Given the description of an element on the screen output the (x, y) to click on. 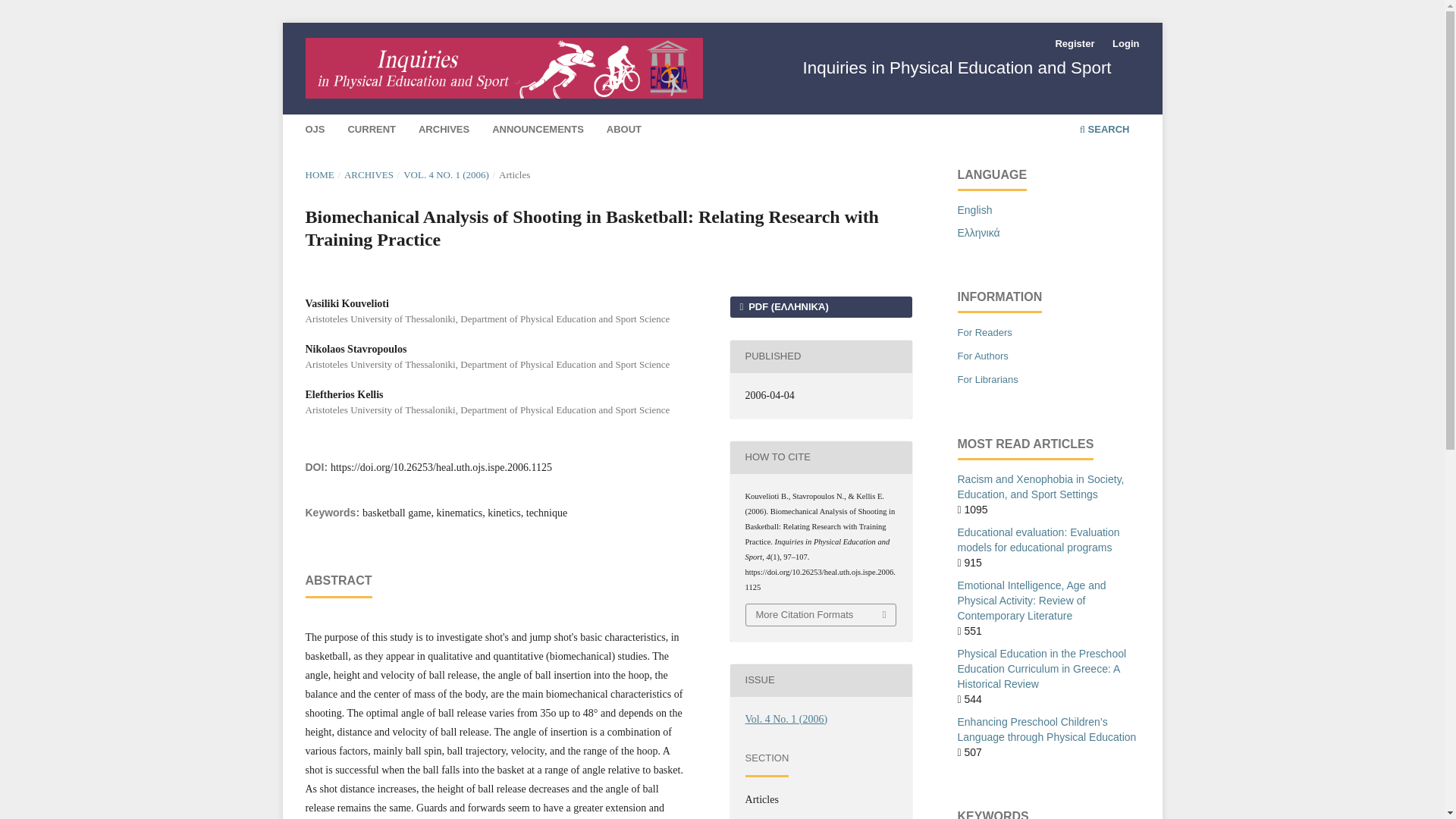
OJS (314, 130)
ARCHIVES (368, 174)
ANNOUNCEMENTS (538, 130)
HOME (318, 174)
ARCHIVES (443, 130)
More Citation Formats (820, 614)
SEARCH (1104, 130)
Login (1126, 43)
ABOUT (623, 130)
CURRENT (371, 130)
